Given the description of an element on the screen output the (x, y) to click on. 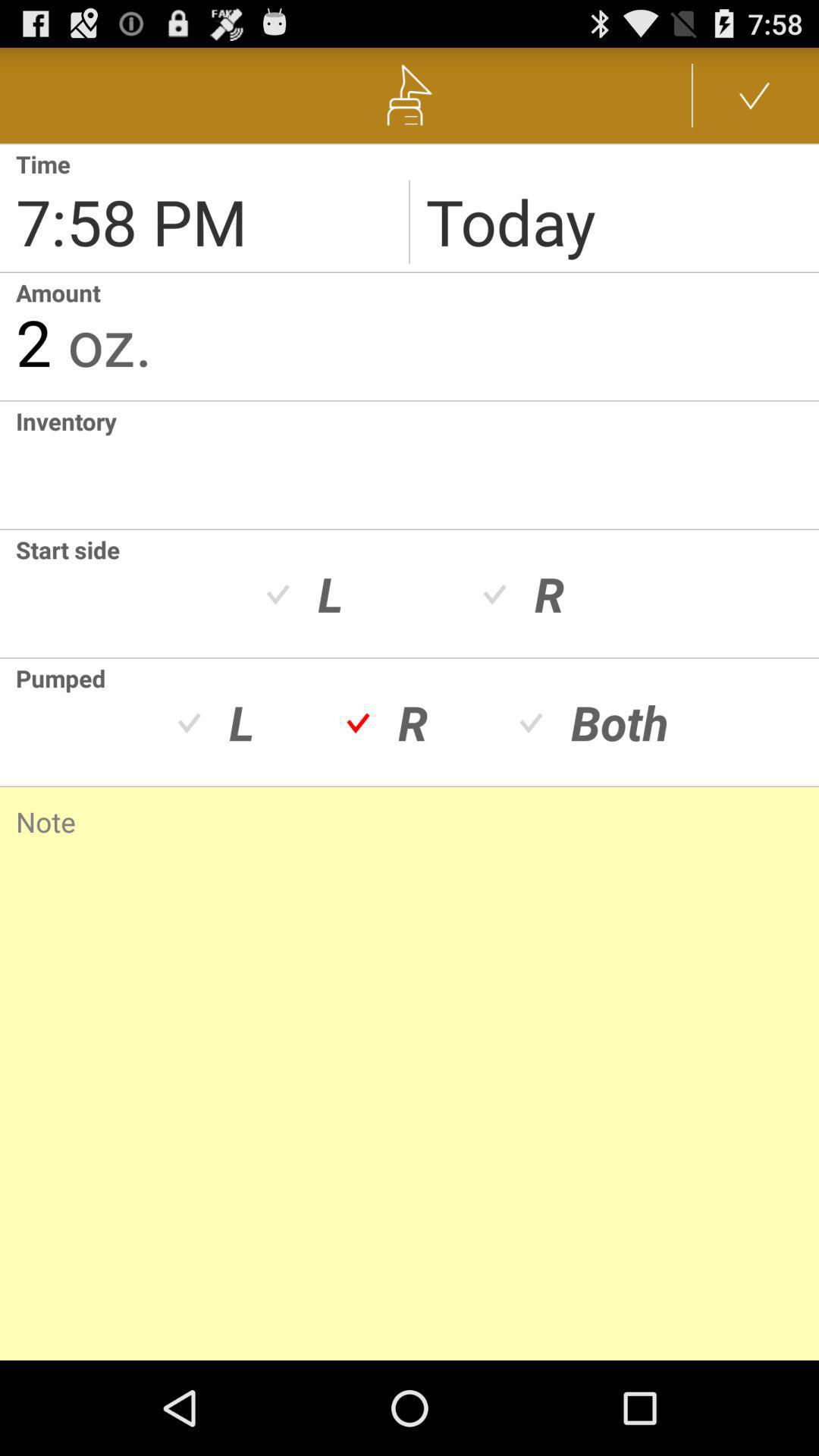
save data (755, 95)
